Given the description of an element on the screen output the (x, y) to click on. 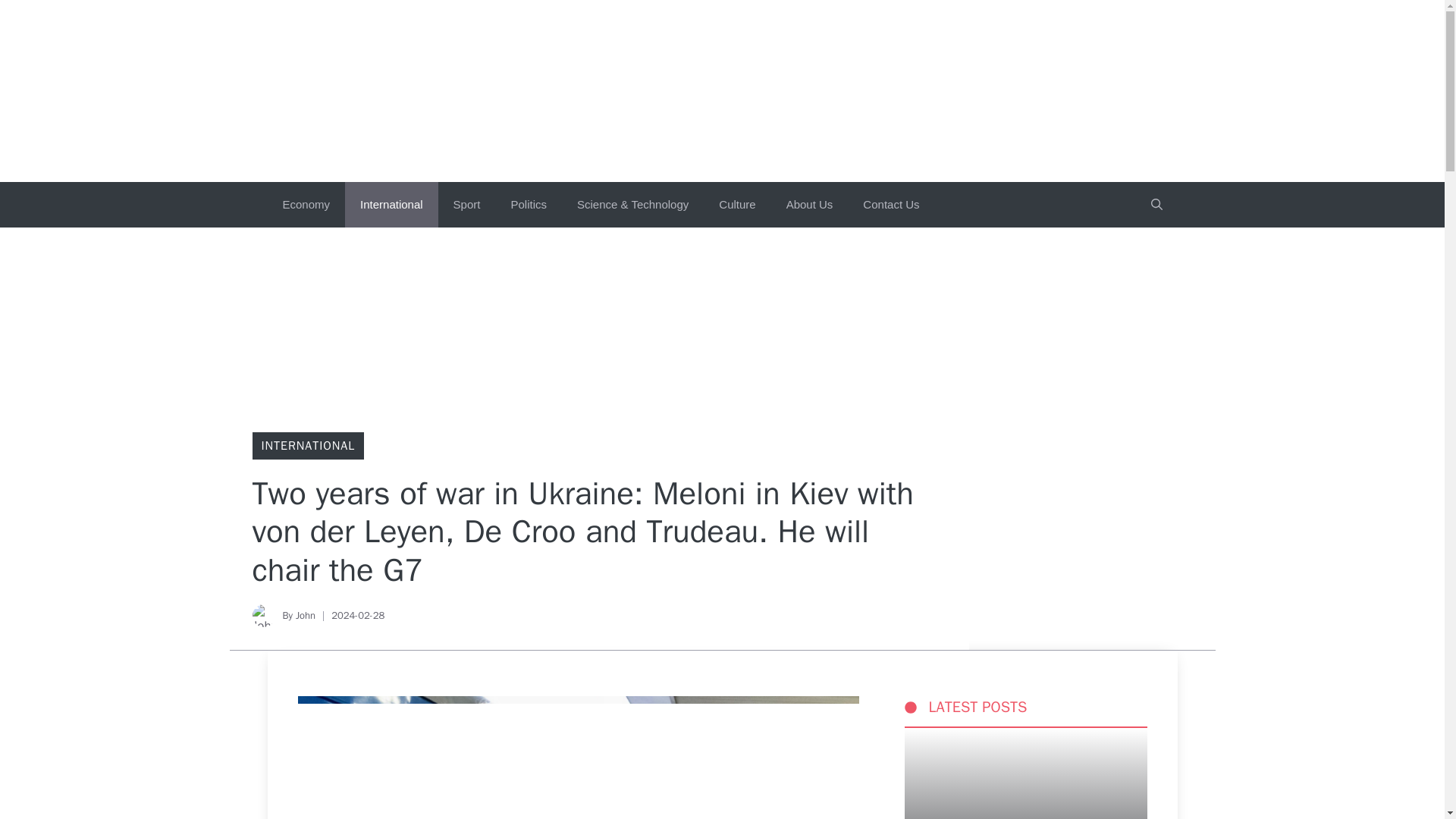
About Us (809, 204)
INTERNATIONAL (307, 445)
Contact Us (890, 204)
Politics (528, 204)
Sport (467, 204)
International (391, 204)
Culture (736, 204)
Economy (305, 204)
